Given the description of an element on the screen output the (x, y) to click on. 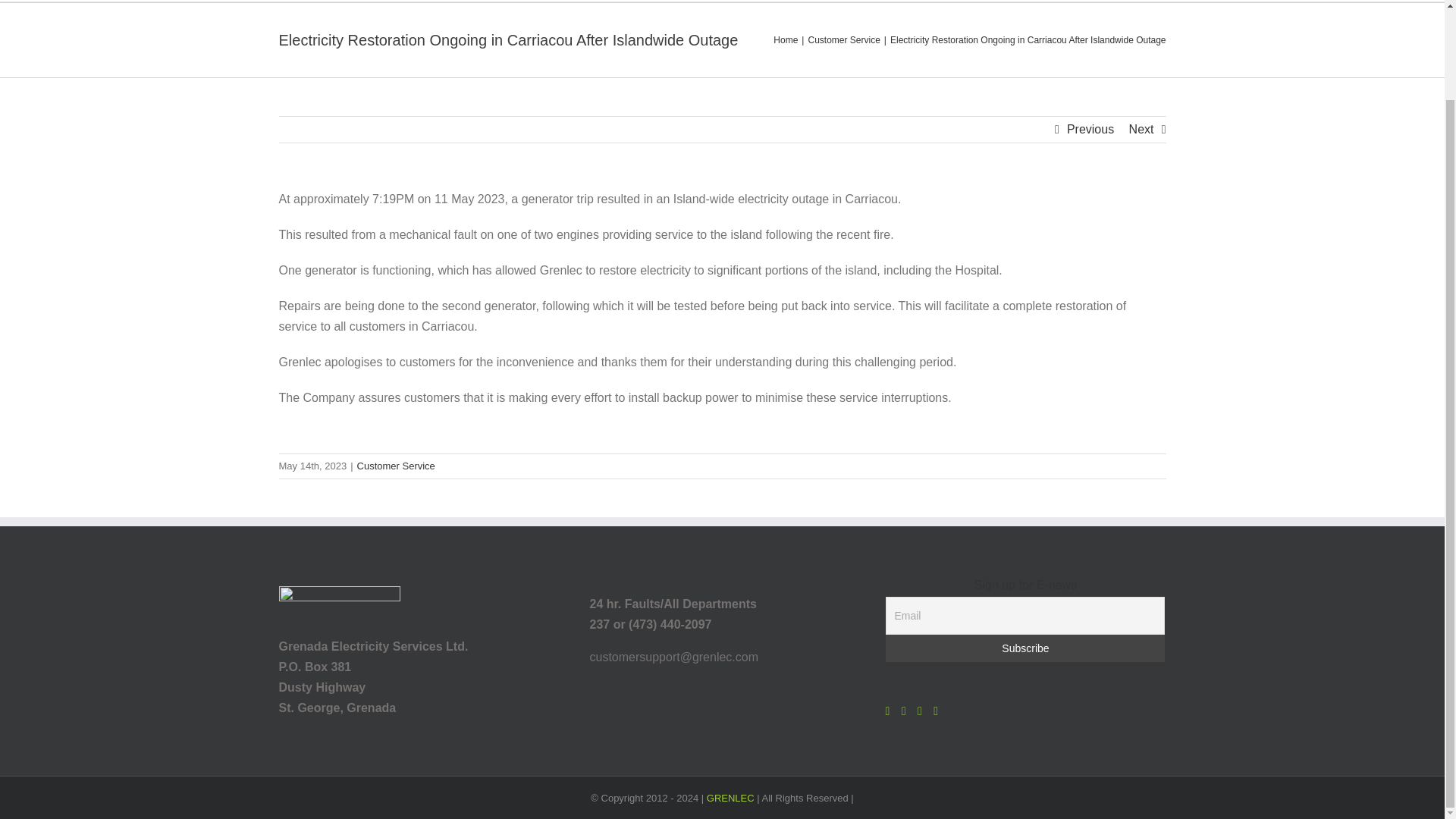
Subscribe (1024, 647)
